Given the description of an element on the screen output the (x, y) to click on. 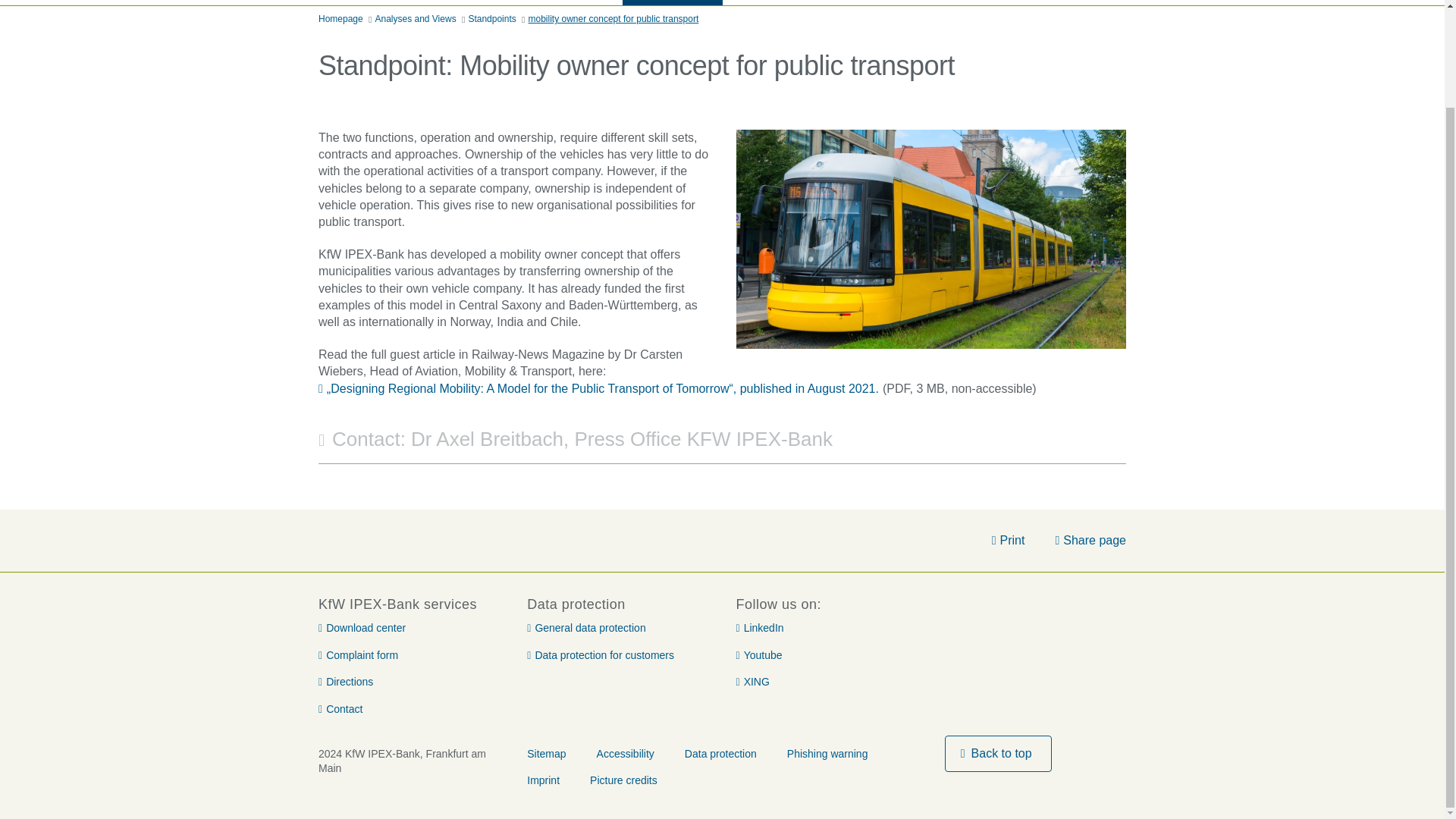
General data protection (586, 628)
Download center (362, 628)
Youtube (758, 655)
Print (1008, 540)
Share page (1089, 540)
Complaint form (357, 655)
Market Analysis (672, 2)
Directions (345, 682)
Standpoints (491, 19)
mobility owner concept for public transport (612, 19)
